Given the description of an element on the screen output the (x, y) to click on. 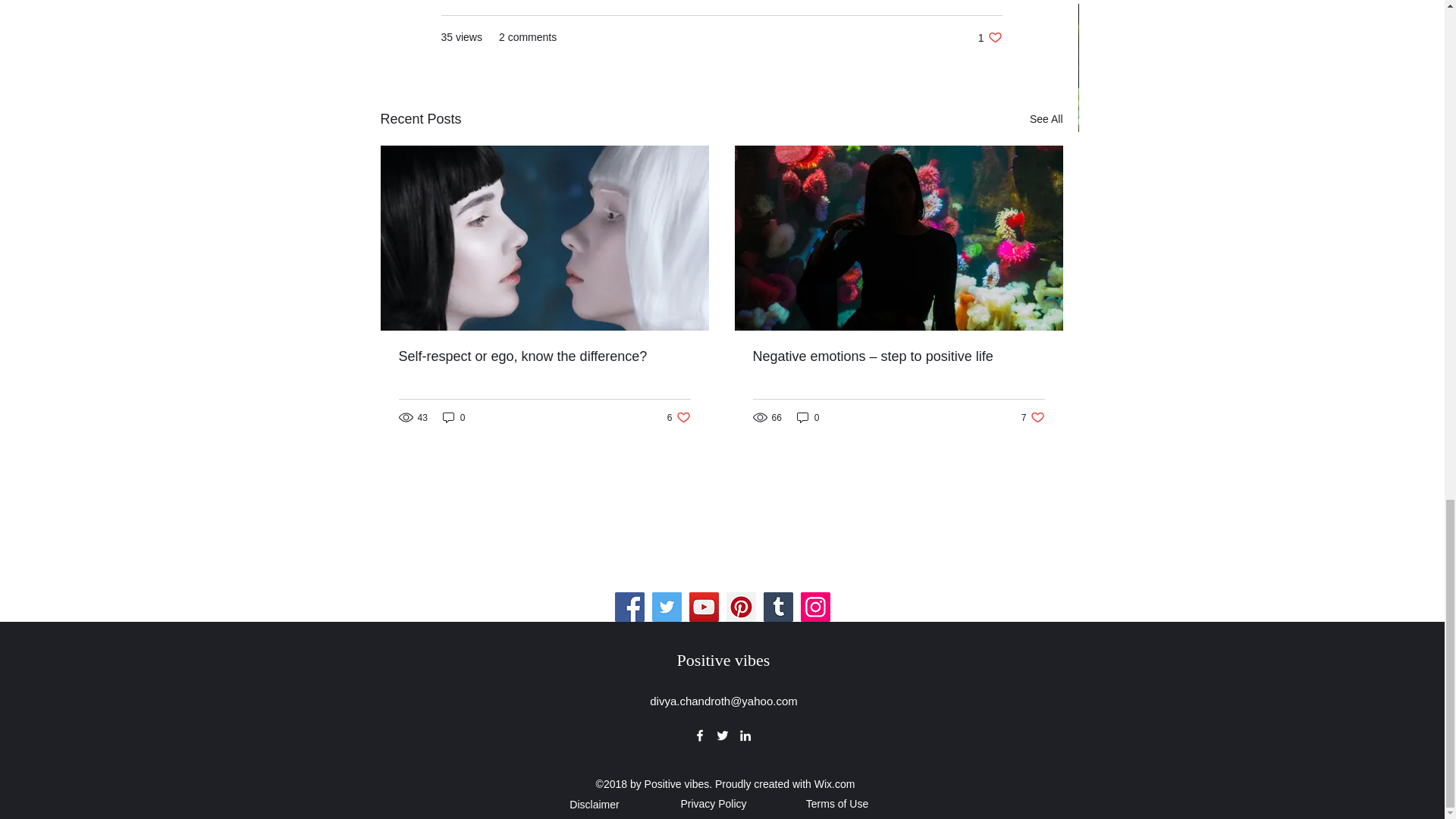
See All (990, 37)
Self-respect or ego, know the difference? (1045, 119)
0 (678, 417)
0 (479, 193)
Self-respect or ego, know the difference? (807, 417)
Disclaimer (454, 417)
